Given the description of an element on the screen output the (x, y) to click on. 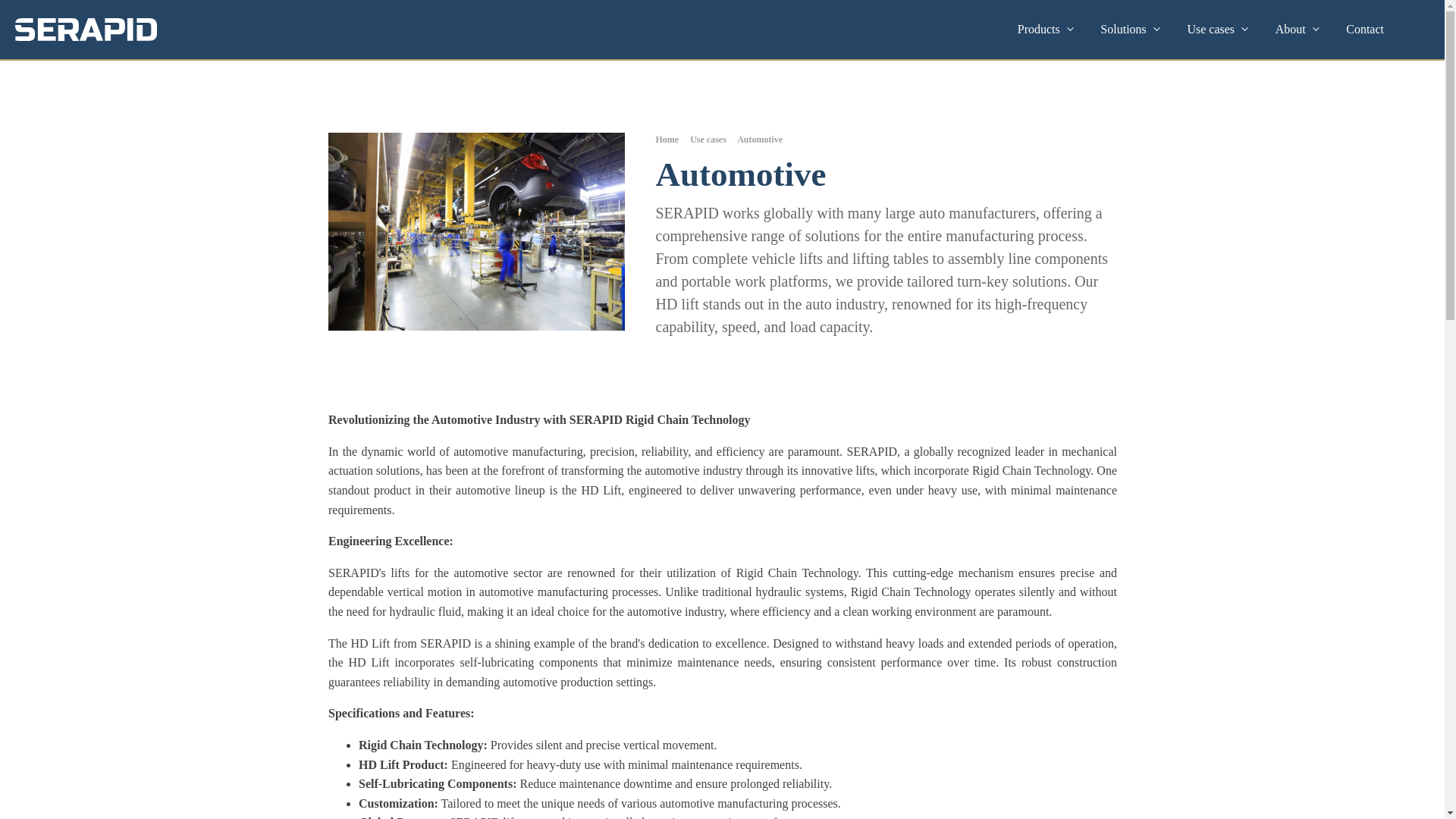
Solutions (1128, 29)
Products (1044, 29)
Use cases (1215, 29)
